Given the description of an element on the screen output the (x, y) to click on. 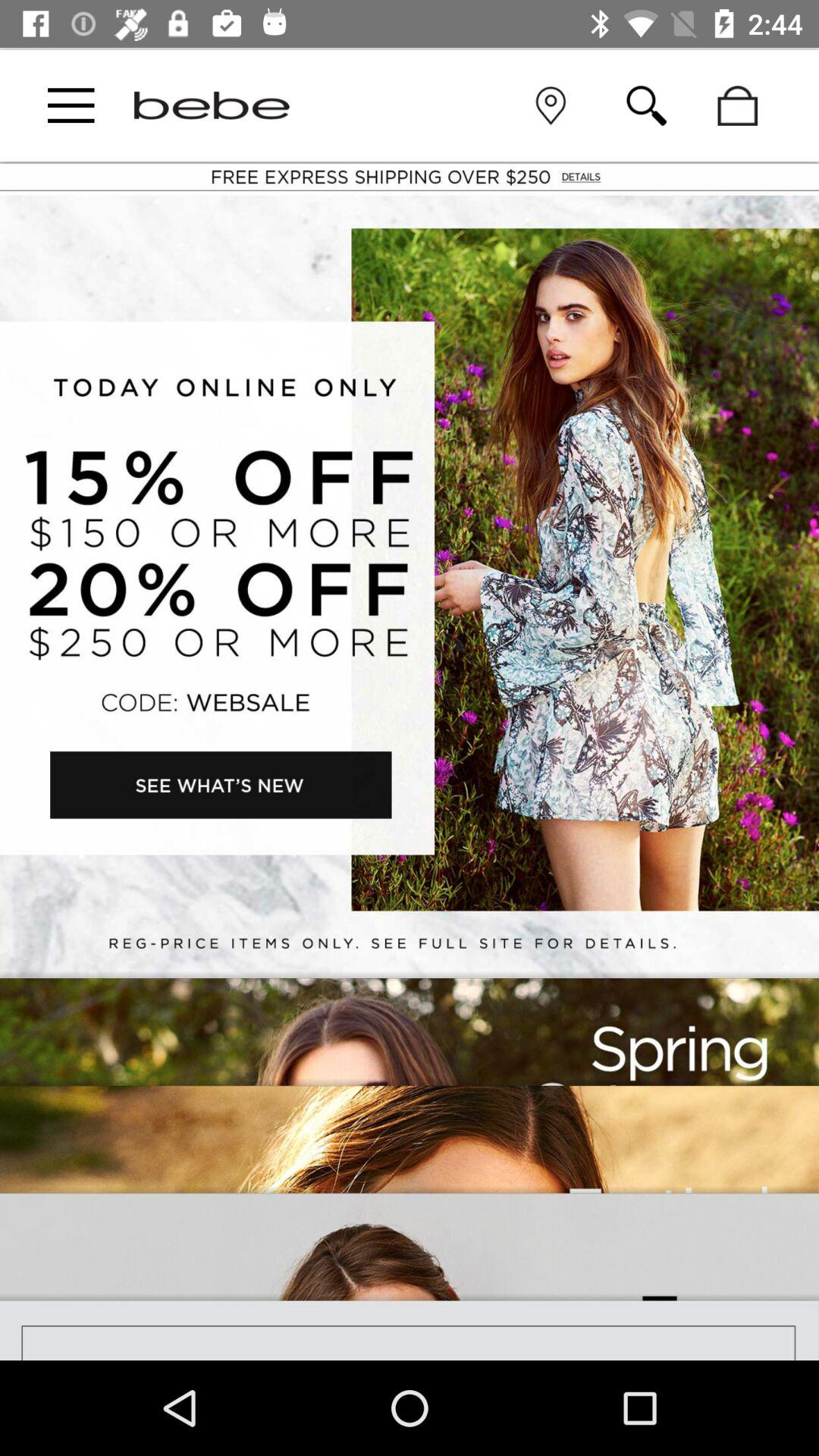
view menu options (70, 105)
